Given the description of an element on the screen output the (x, y) to click on. 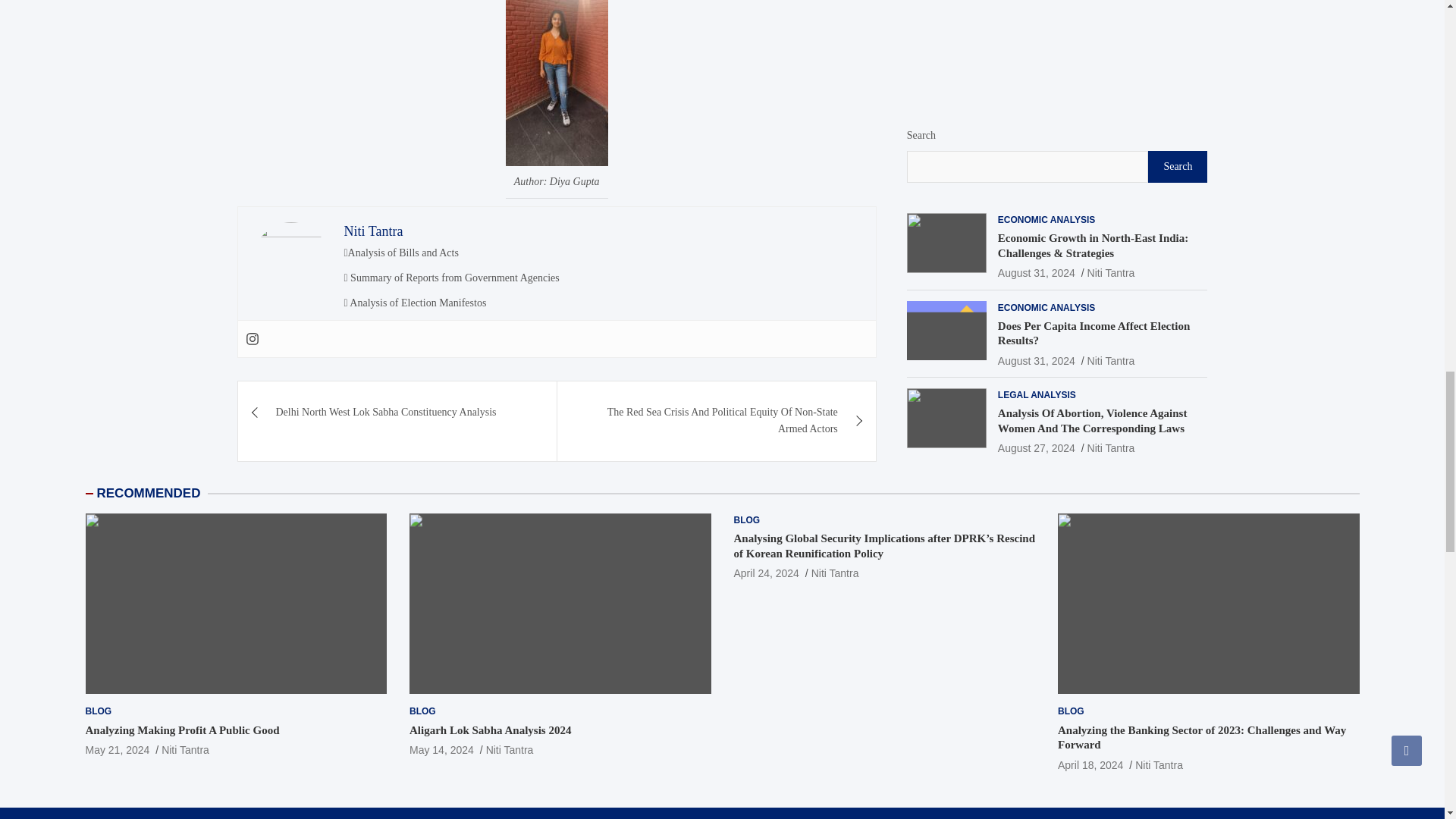
Analyzing Making Profit A Public Good (116, 749)
Instagram (252, 338)
Aligarh Lok Sabha Analysis 2024 (441, 749)
Niti Tantra (373, 231)
Delhi North West Lok Sabha Constituency Analysis (397, 412)
